Given the description of an element on the screen output the (x, y) to click on. 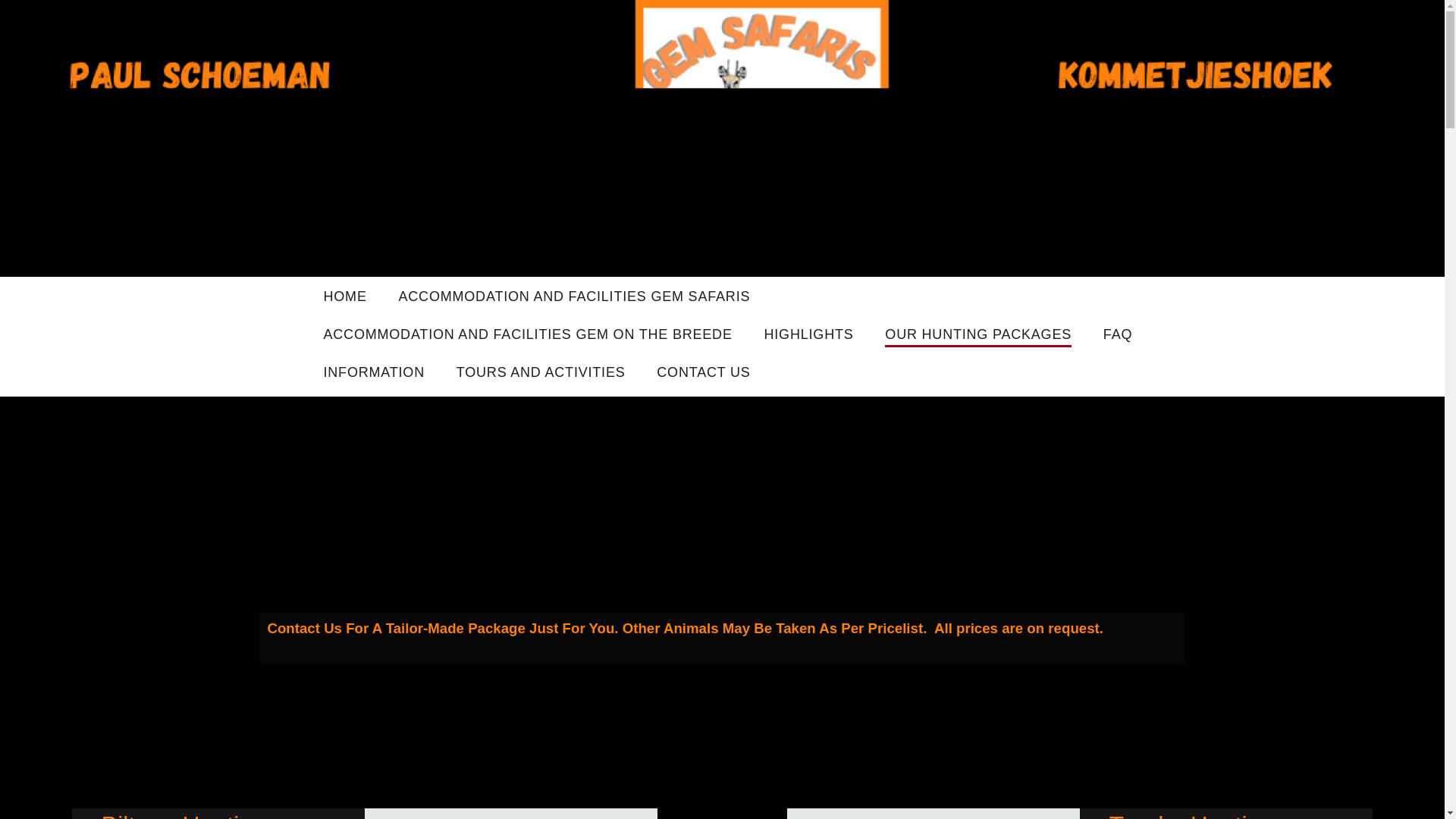
HIGHLIGHTS (808, 335)
HOME (344, 297)
FAQ (1117, 335)
TOURS AND ACTIVITIES (541, 373)
OUR HUNTING PACKAGES (978, 335)
INFORMATION (373, 373)
GEM SAFARIS (353, 327)
ACCOMMODATION AND FACILITIES GEM SAFARIS (574, 297)
ACCOMMODATION AND FACILITIES GEM ON THE BREEDE (527, 335)
CONTACT US (702, 373)
